Given the description of an element on the screen output the (x, y) to click on. 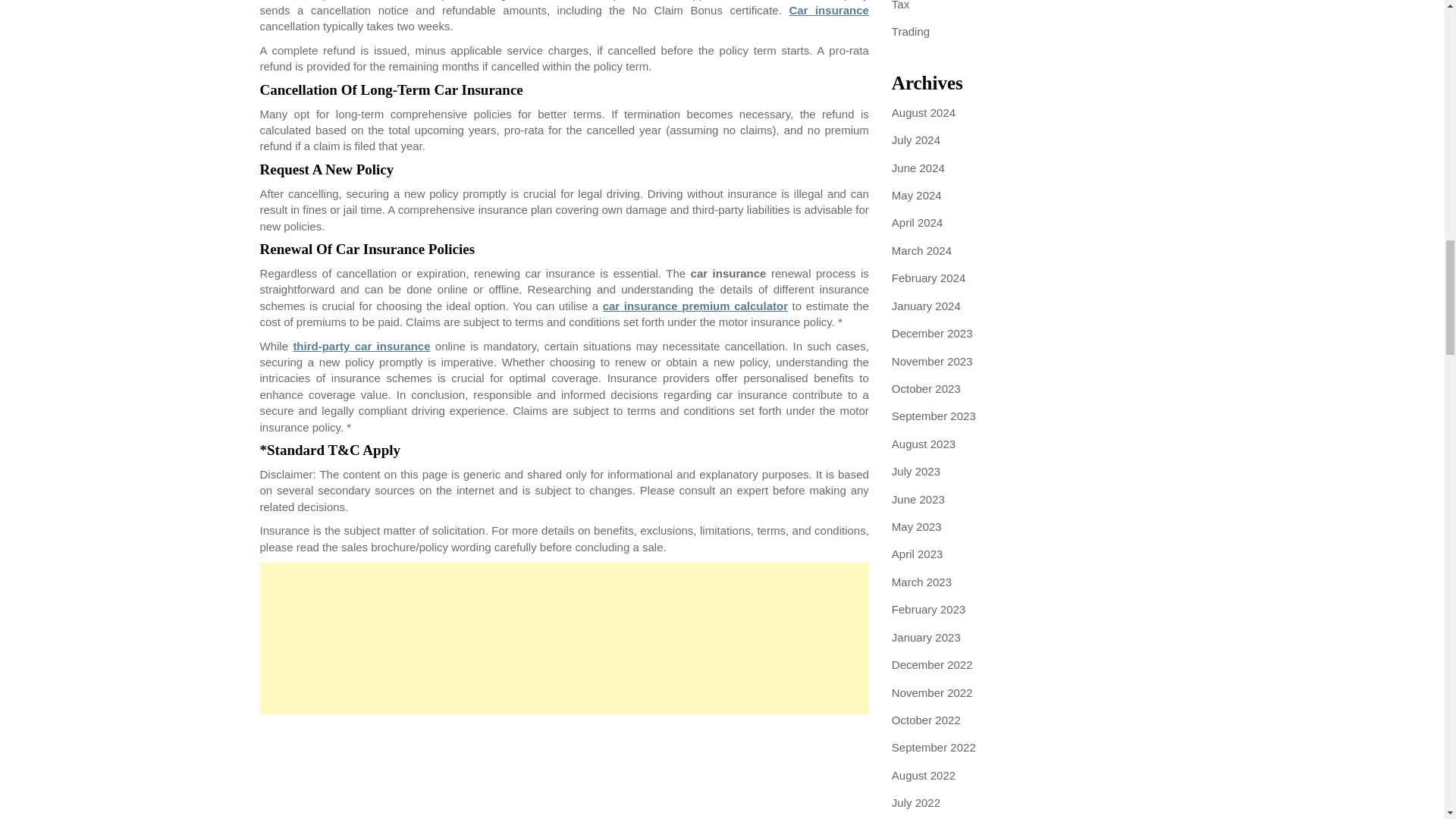
third-party car insurance (360, 345)
car insurance premium calculator (694, 305)
Car insurance (828, 10)
